Given the description of an element on the screen output the (x, y) to click on. 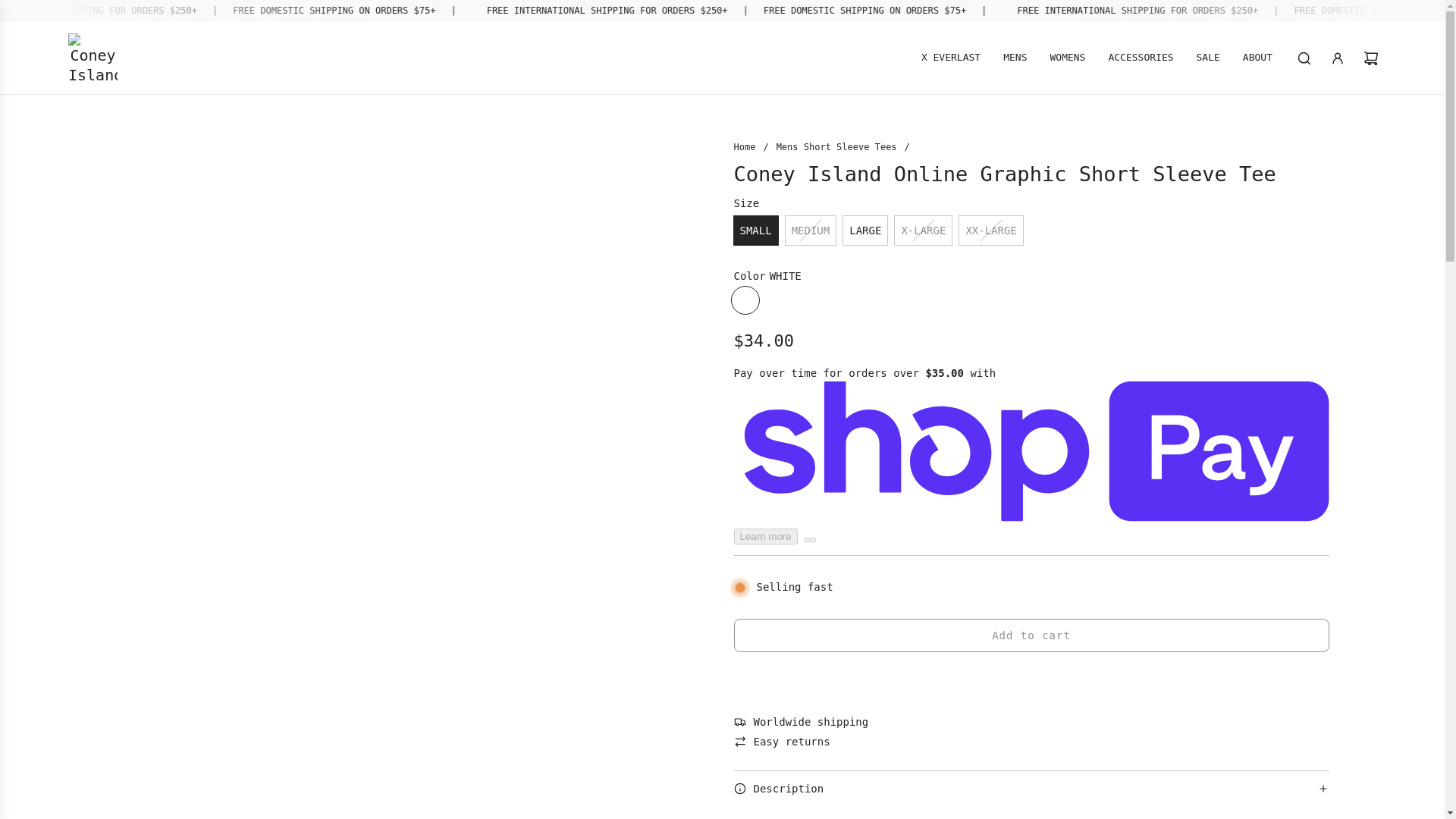
X EVERLAST (950, 57)
Back to the frontpage (744, 146)
Mens Short Sleeve Tees (836, 146)
